Given the description of an element on the screen output the (x, y) to click on. 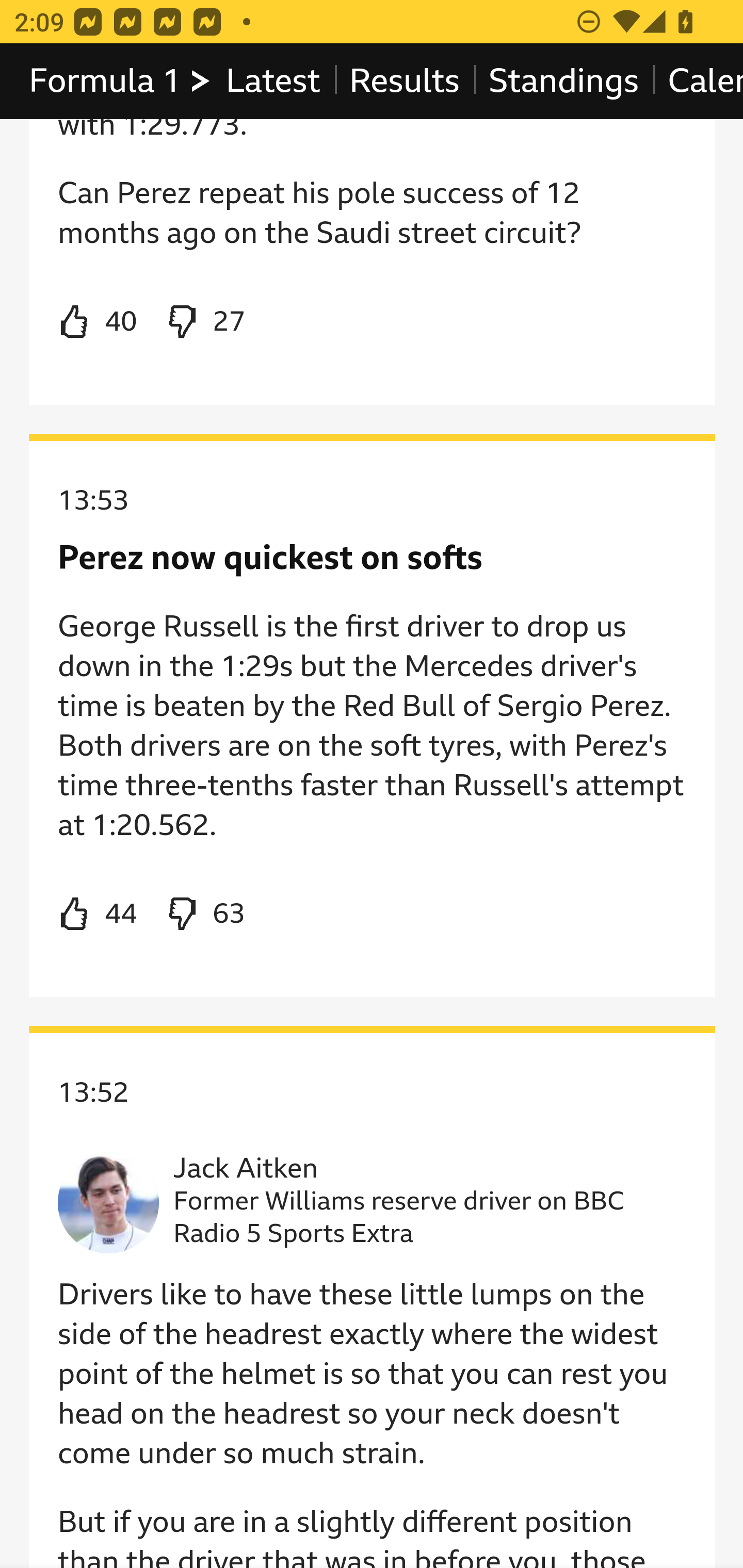
Like (97, 323)
Dislike (204, 323)
Like (97, 914)
Dislike (204, 914)
